Given the description of an element on the screen output the (x, y) to click on. 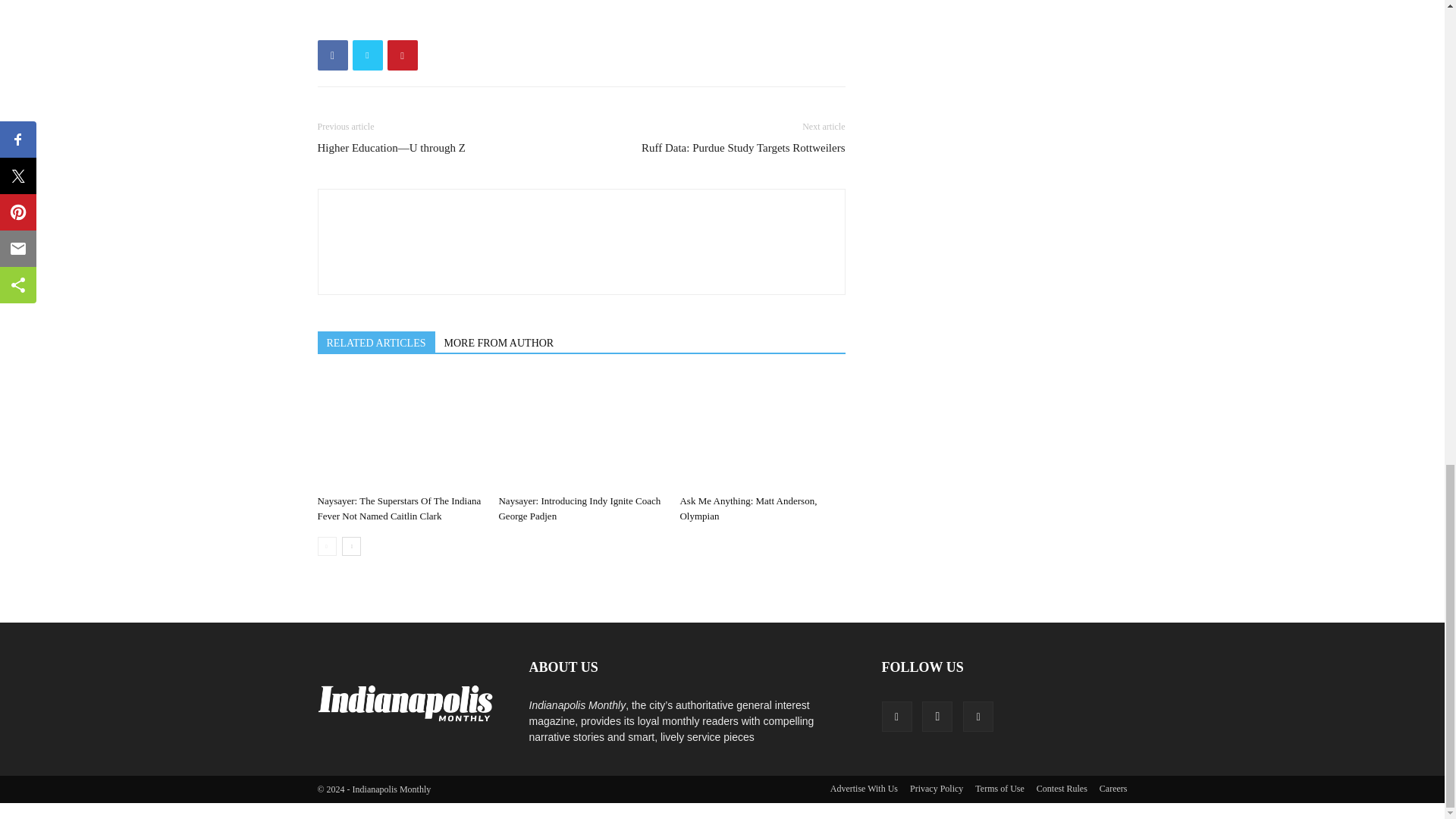
Ask Me Anything: Matt Anderson, Olympian (761, 431)
Naysayer: Introducing Indy Ignite Coach George Padjen (579, 508)
Naysayer: Introducing Indy Ignite Coach George Padjen (580, 431)
